Given the description of an element on the screen output the (x, y) to click on. 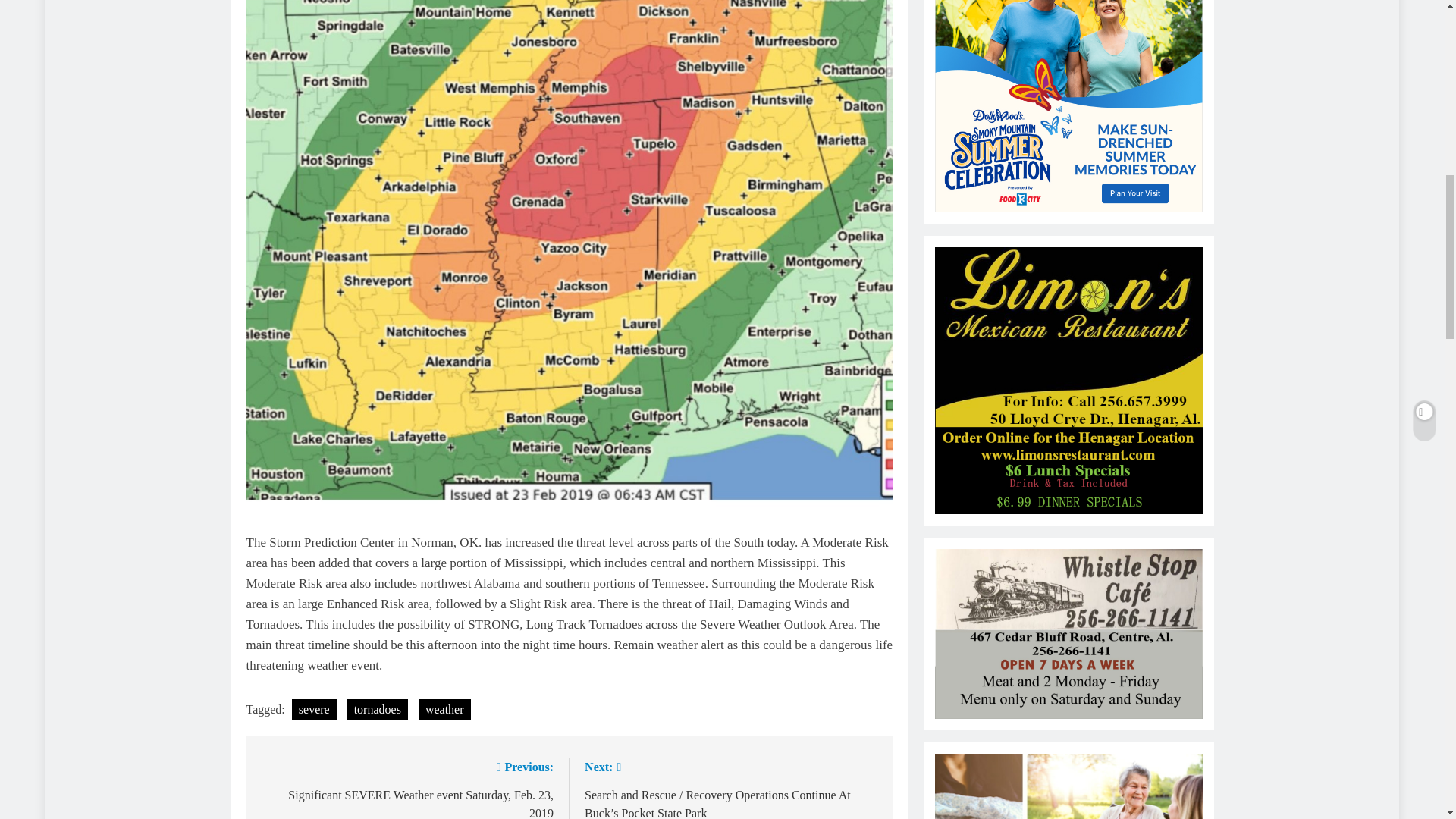
weather (444, 709)
tornadoes (377, 709)
severe (314, 709)
